Given the description of an element on the screen output the (x, y) to click on. 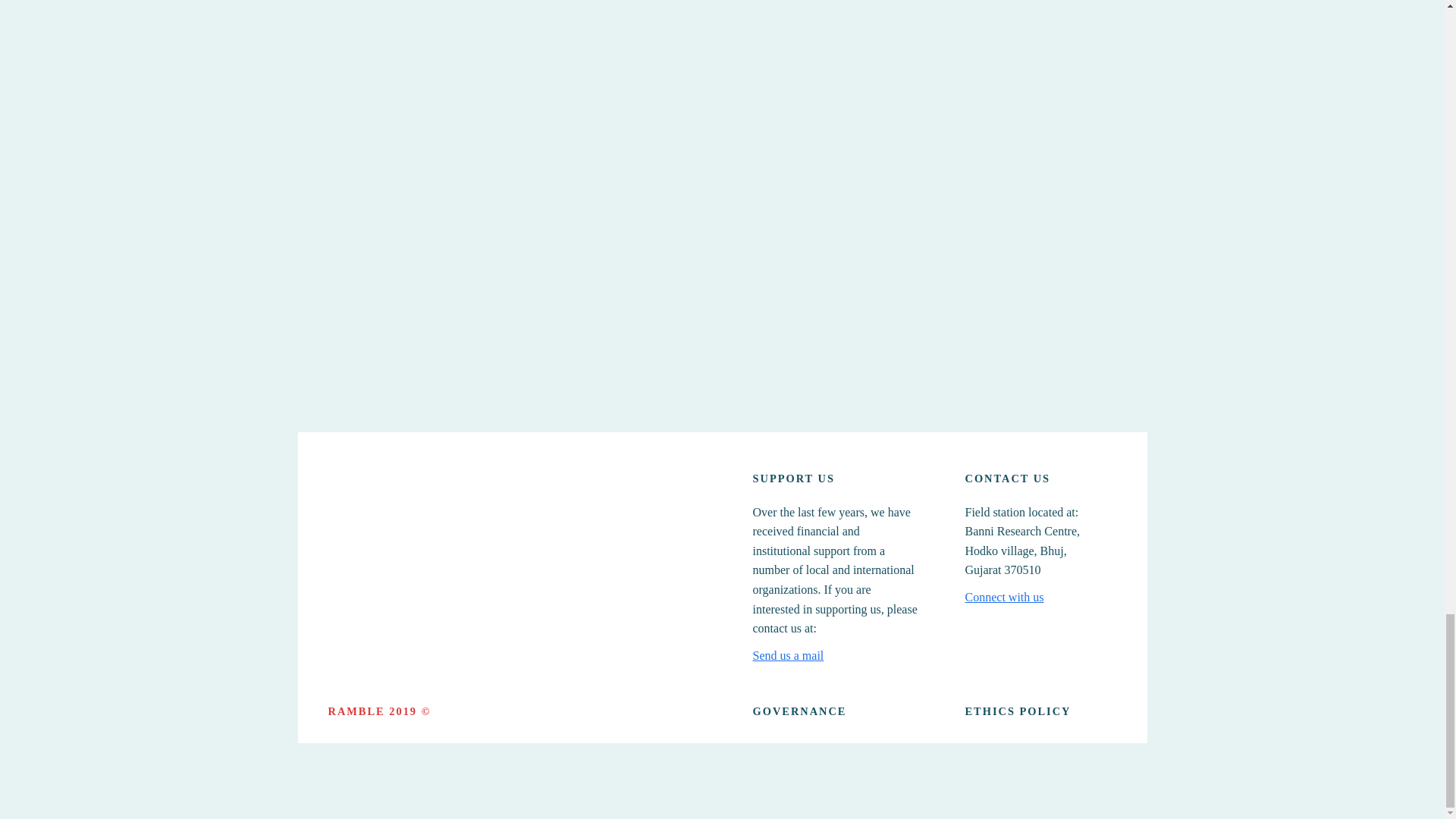
ETHICS POLICY (1016, 711)
Connect with us (1003, 597)
Send us a mail (788, 655)
GOVERNANCE (798, 711)
